Given the description of an element on the screen output the (x, y) to click on. 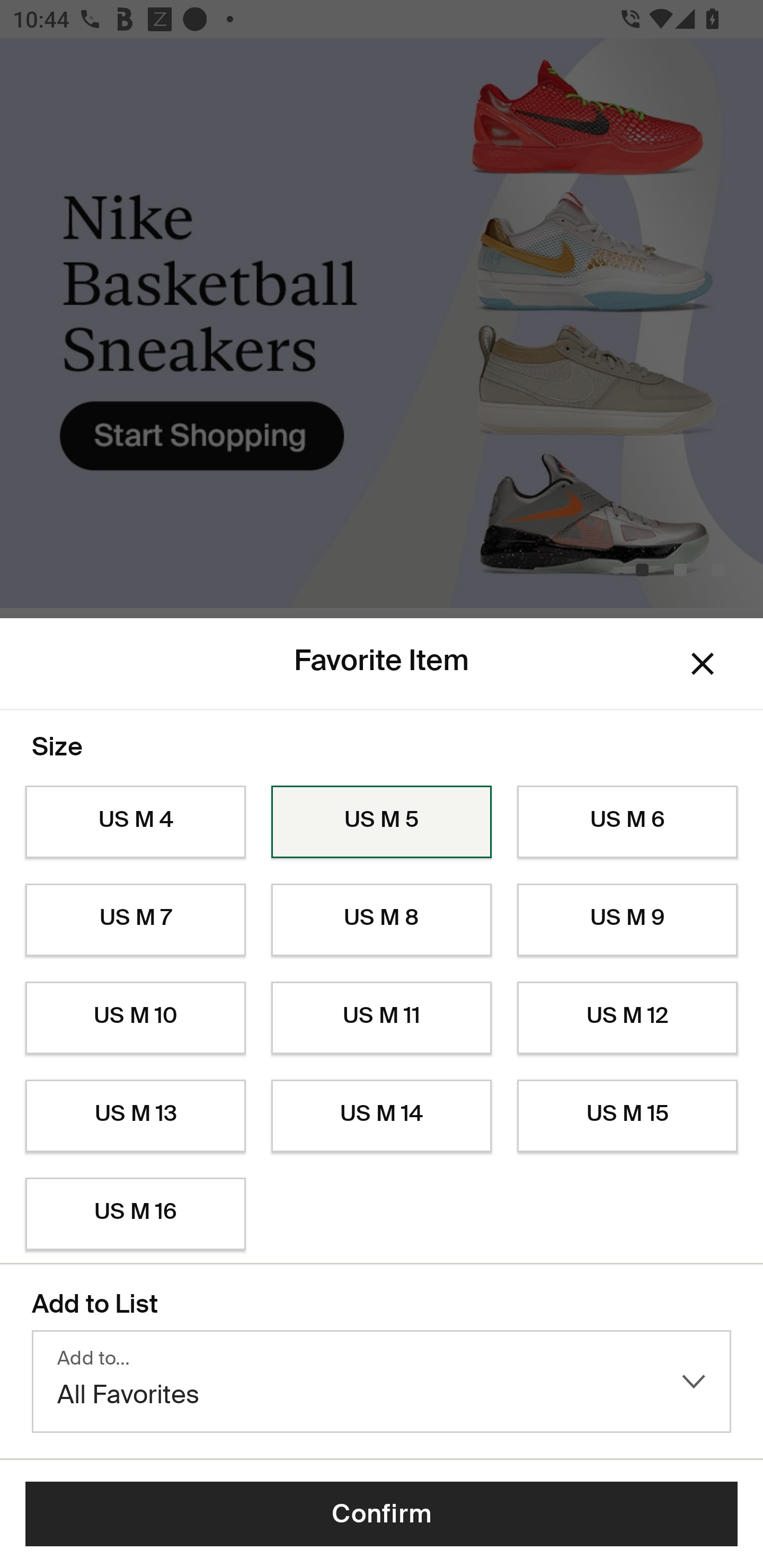
Dismiss (702, 663)
US M 4 (135, 822)
US M 5 (381, 822)
US M 6 (627, 822)
US M 7 (135, 919)
US M 8 (381, 919)
US M 9 (627, 919)
US M 10 (135, 1018)
US M 11 (381, 1018)
US M 12 (627, 1018)
US M 13 (135, 1116)
US M 14 (381, 1116)
US M 15 (627, 1116)
US M 16 (135, 1214)
Add to… All Favorites (381, 1381)
Confirm (381, 1513)
